Given the description of an element on the screen output the (x, y) to click on. 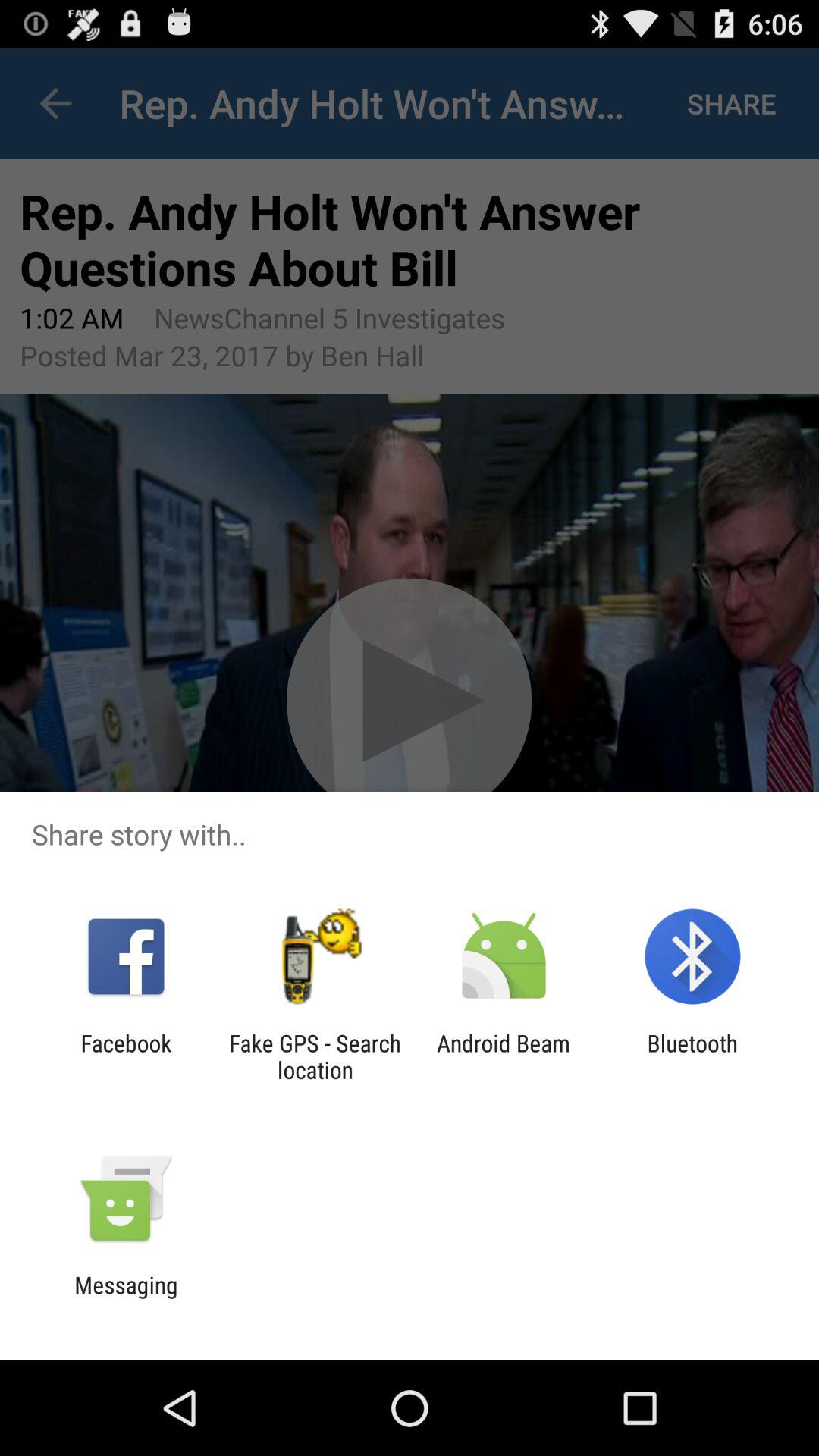
press the icon to the left of fake gps search (125, 1056)
